Given the description of an element on the screen output the (x, y) to click on. 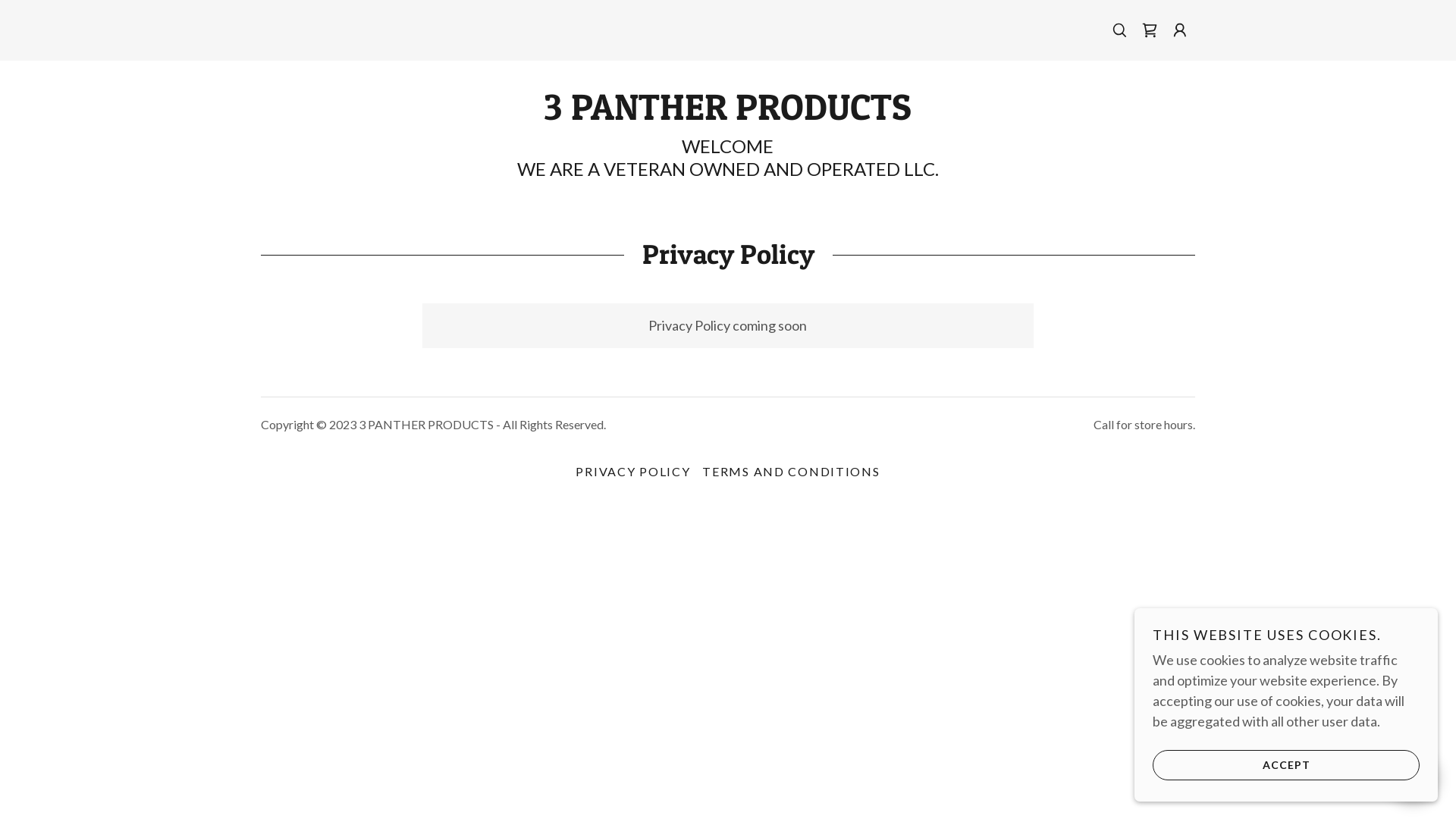
3 PANTHER PRODUCTS Element type: text (727, 114)
PRIVACY POLICY Element type: text (632, 471)
ACCEPT Element type: text (1285, 764)
TERMS AND CONDITIONS Element type: text (790, 471)
